Given the description of an element on the screen output the (x, y) to click on. 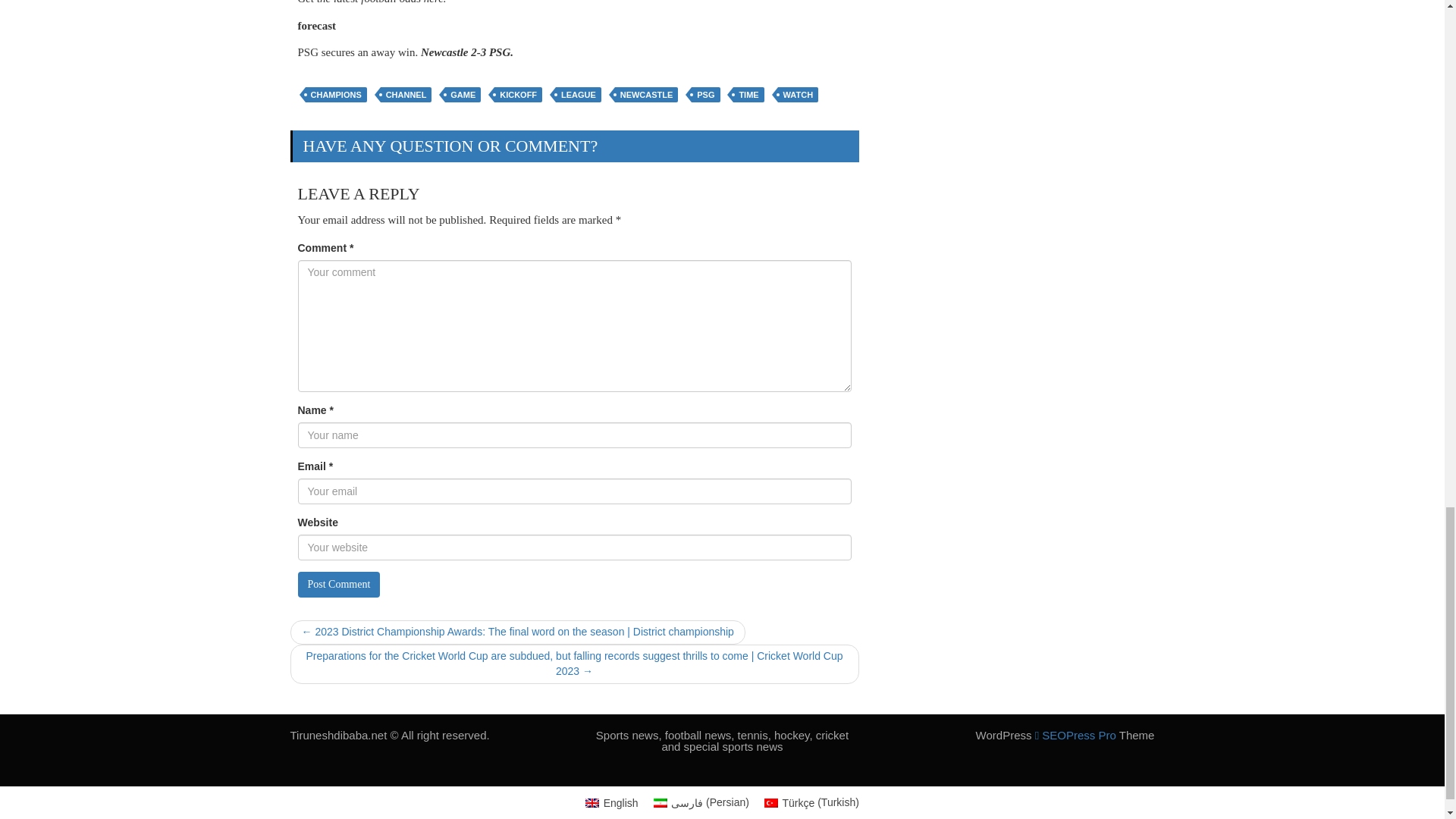
KICKOFF (518, 94)
CHAMPIONS (335, 94)
TIME (747, 94)
PSG (705, 94)
LEAGUE (578, 94)
GAME (462, 94)
WATCH (797, 94)
NEWCASTLE (646, 94)
Post Comment (338, 584)
Post Comment (338, 584)
CHANNEL (406, 94)
